Given the description of an element on the screen output the (x, y) to click on. 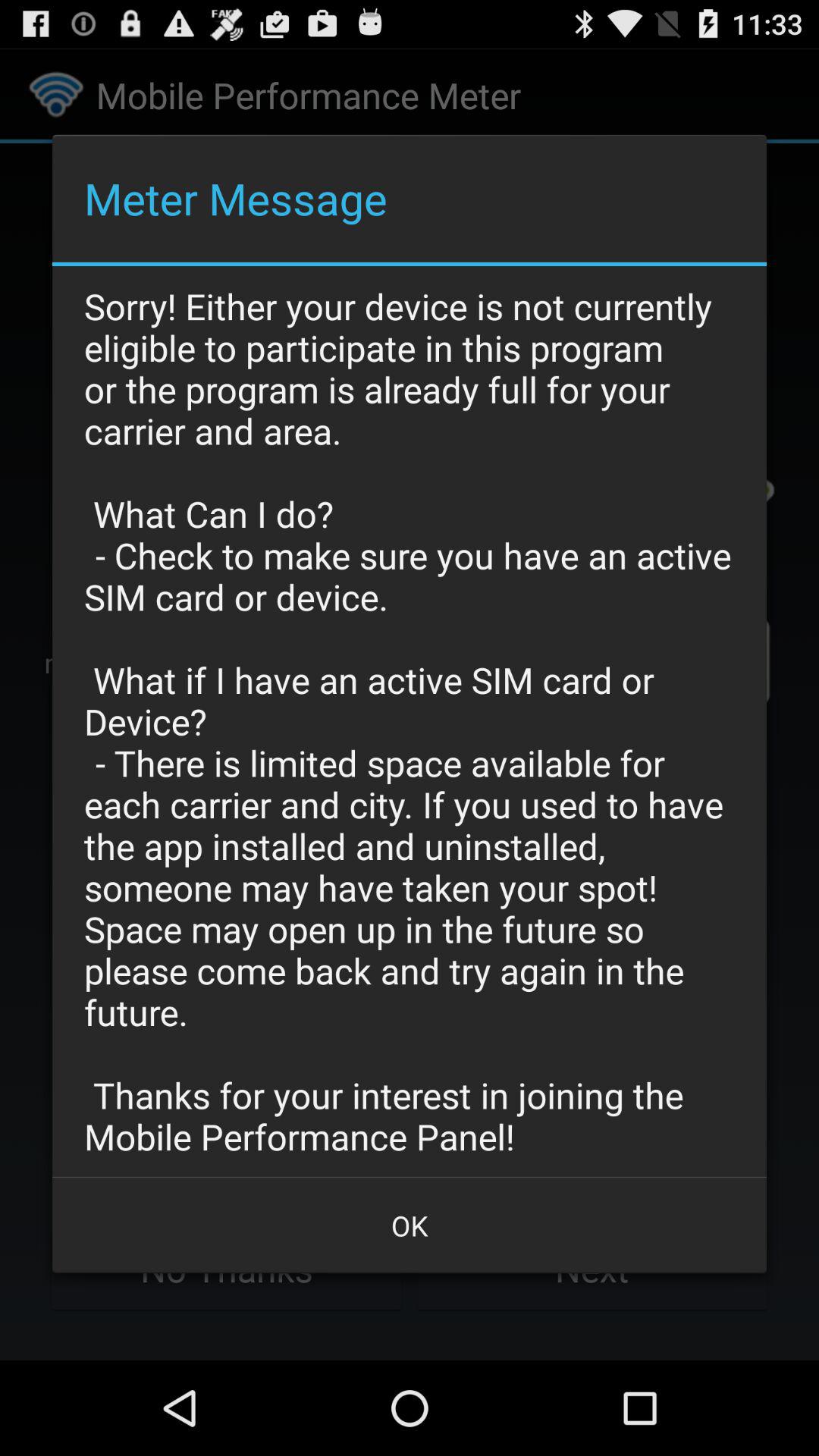
turn off the icon below sorry either your (409, 1225)
